Given the description of an element on the screen output the (x, y) to click on. 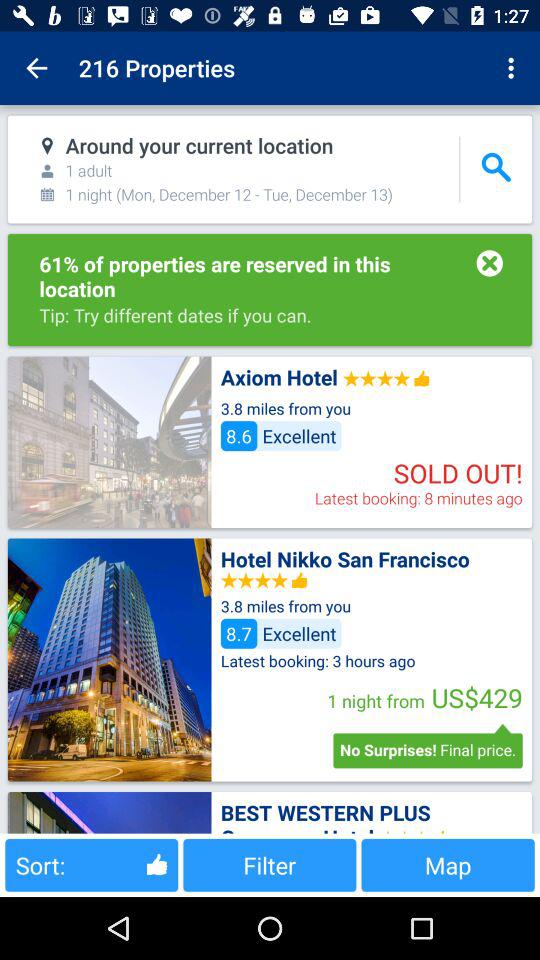
tap item next to 216 properties (513, 67)
